Given the description of an element on the screen output the (x, y) to click on. 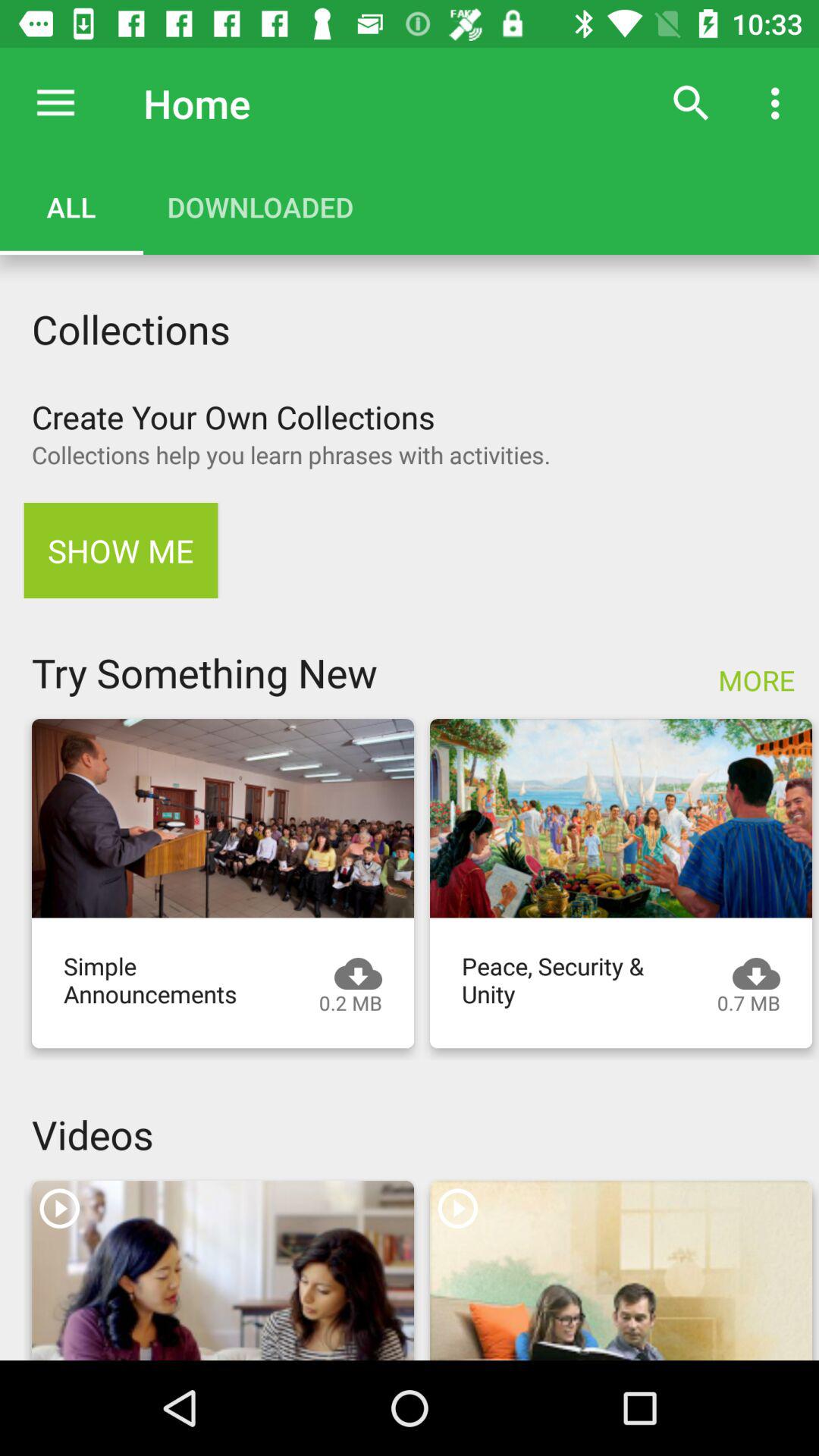
play the video (620, 1270)
